Given the description of an element on the screen output the (x, y) to click on. 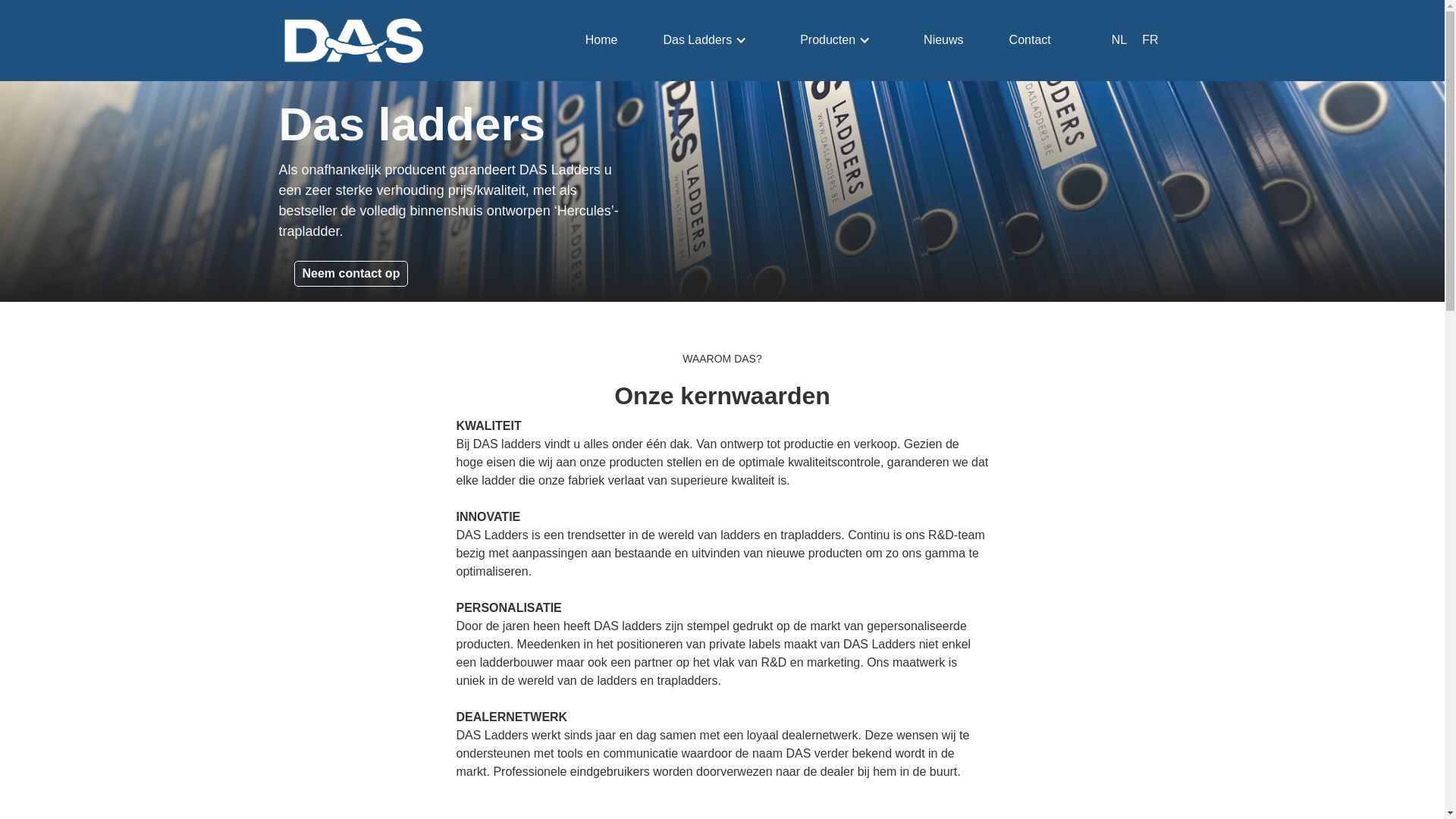
FR Element type: text (1149, 40)
Neem contact op Element type: text (351, 273)
Home Element type: text (601, 40)
Contact Element type: text (1029, 40)
NL Element type: text (1119, 40)
Nieuws Element type: text (943, 40)
